Given the description of an element on the screen output the (x, y) to click on. 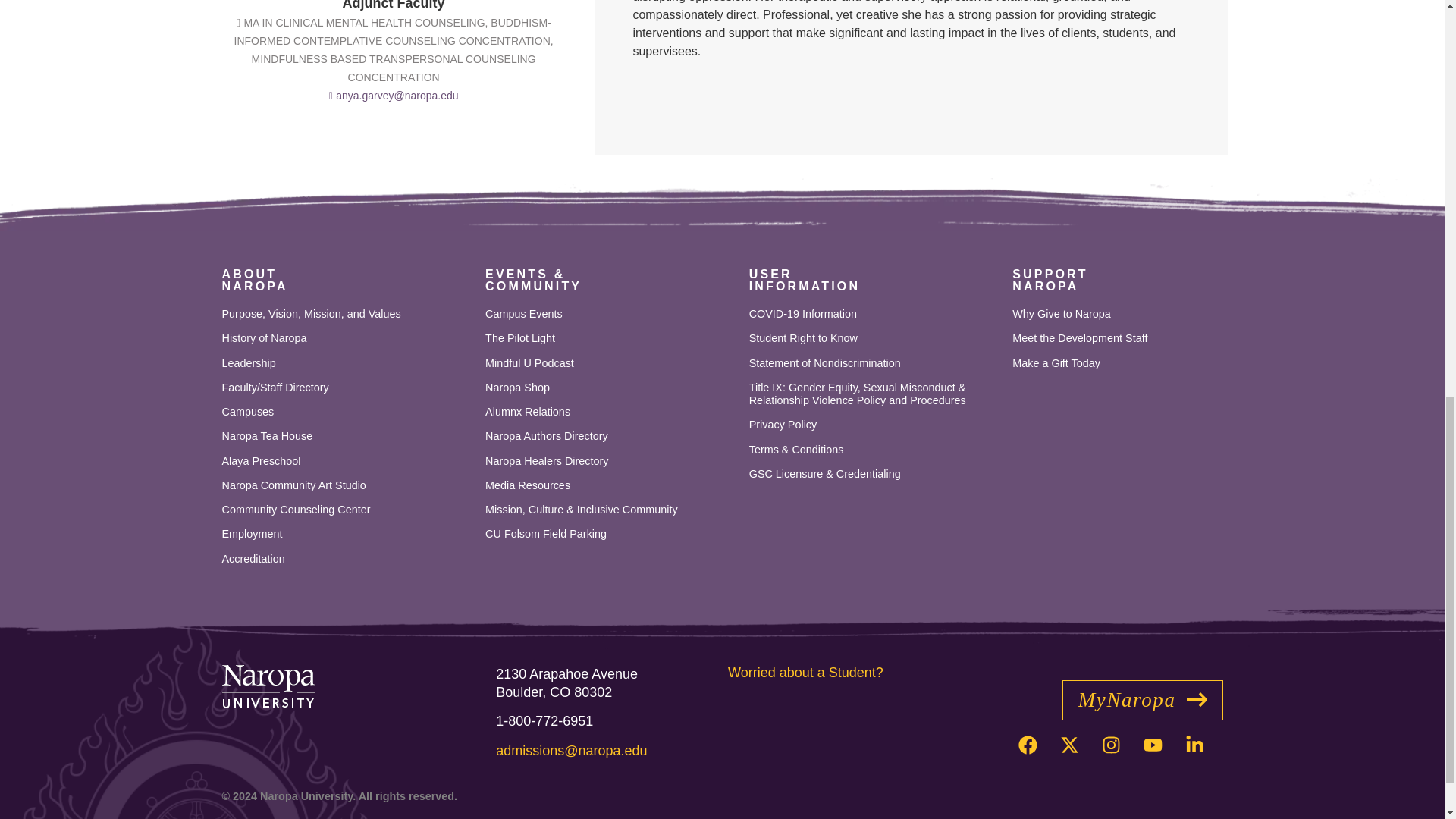
Media Resources (609, 485)
Naropa Tea House (346, 436)
Purpose, Vision, Mission, and Values (346, 314)
Community Counseling Center (346, 509)
Campuses (346, 411)
Leadership (346, 363)
Employment (346, 533)
Campus Events (609, 314)
Naropa Healers Directory (609, 461)
Naropa Shop (609, 387)
Accreditation (346, 558)
History of Naropa (346, 338)
The Pilot Light (609, 338)
Alumnx Relations (609, 411)
Naropa Community Art Studio (346, 485)
